Given the description of an element on the screen output the (x, y) to click on. 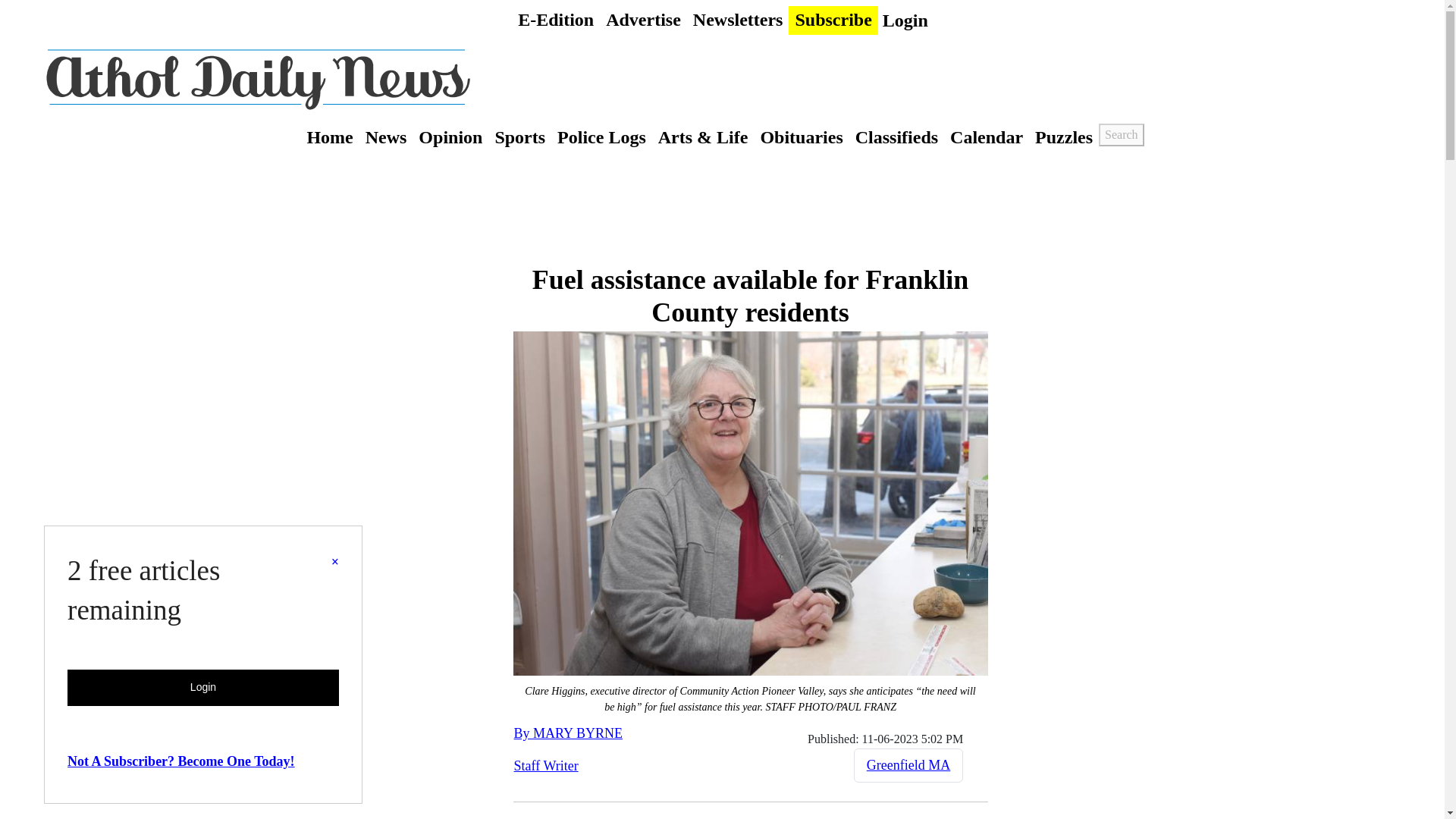
Advertise (643, 20)
Greenfield MA (908, 765)
Staff Writer (545, 765)
Newsletters (738, 20)
Obituaries (801, 137)
Subscribe (833, 20)
Sports (519, 137)
Login (905, 20)
Search (1121, 134)
E-Edition (555, 20)
Classifieds (895, 137)
Puzzles (1064, 137)
Opinion (449, 137)
Home (328, 137)
Calendar (986, 137)
